Given the description of an element on the screen output the (x, y) to click on. 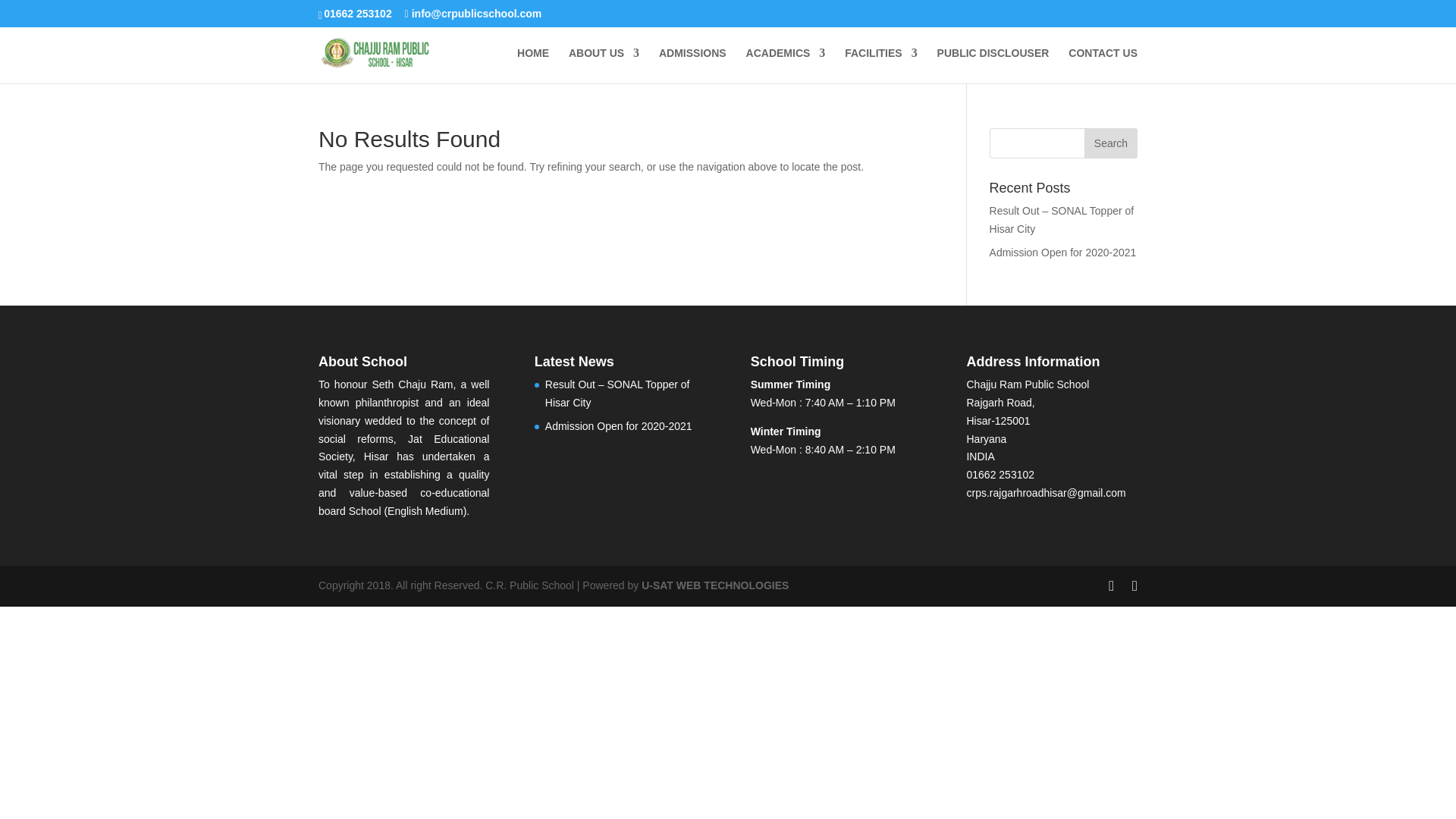
PUBLIC DISCLOUSER (993, 65)
HOME (532, 65)
U-SAT WEB TECHNOLOGIES (715, 585)
CONTACT US (1102, 65)
Admission Open for 2020-2021 (618, 426)
Search (1110, 142)
Admission Open for 2020-2021 (1063, 252)
Search (1110, 142)
FACILITIES (880, 65)
ADMISSIONS (692, 65)
